Given the description of an element on the screen output the (x, y) to click on. 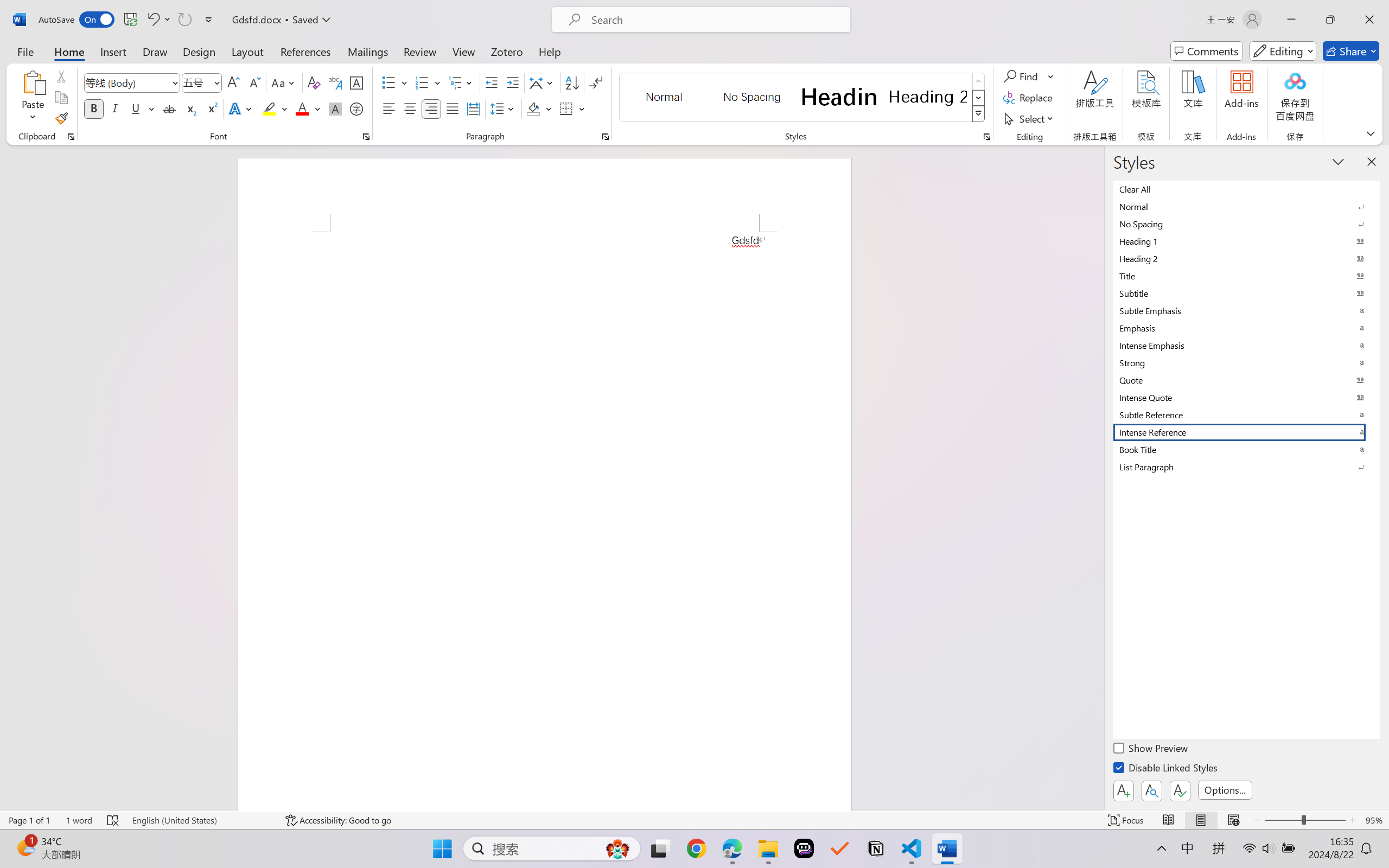
Styles... (986, 136)
Class: MsoCommandBar (694, 819)
Center (409, 108)
Task Pane Options (1338, 161)
Text Highlight Color Yellow (269, 108)
Copy (60, 97)
Line and Paragraph Spacing (503, 108)
